Given the description of an element on the screen output the (x, y) to click on. 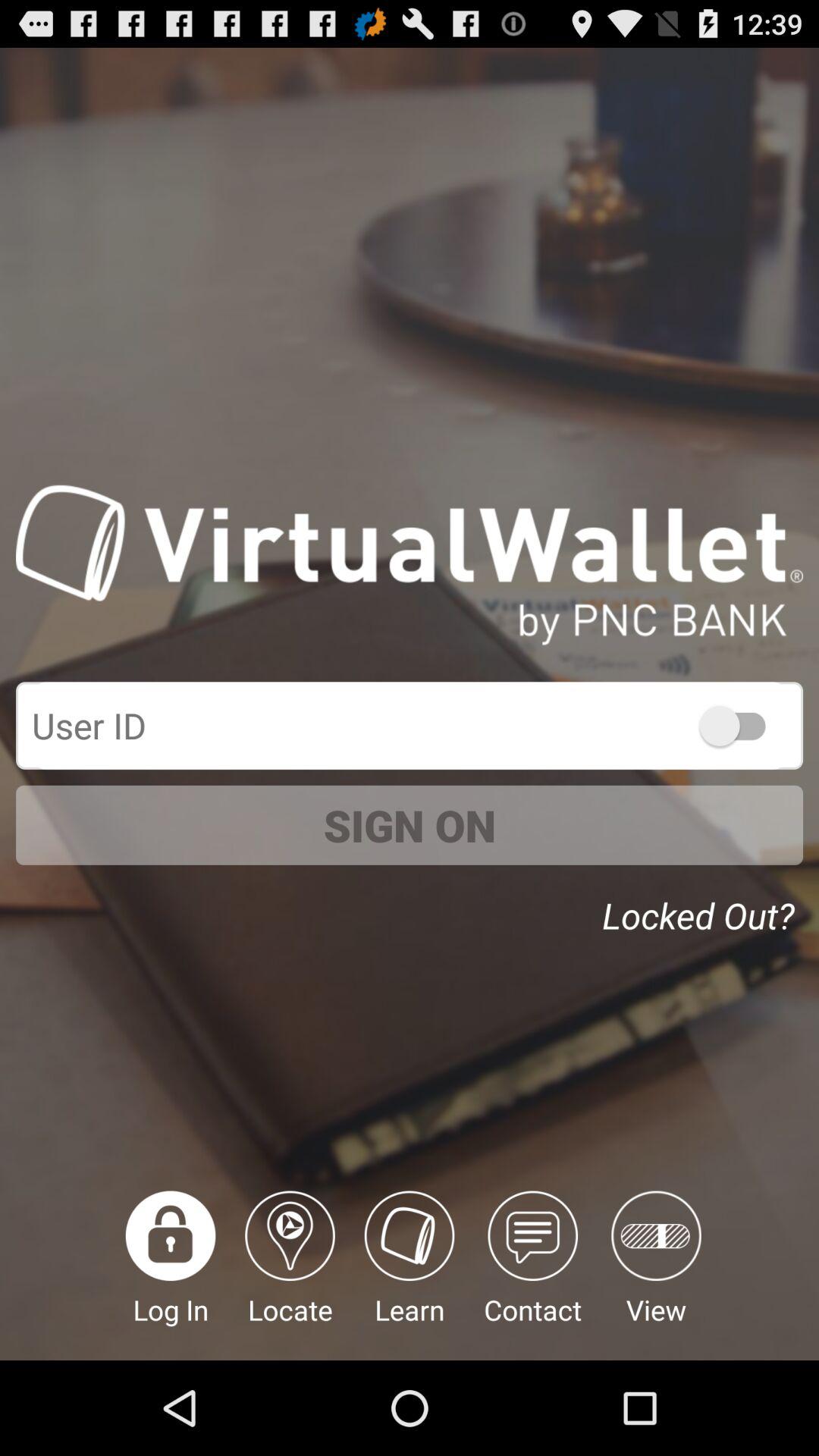
user id camp (409, 725)
